Given the description of an element on the screen output the (x, y) to click on. 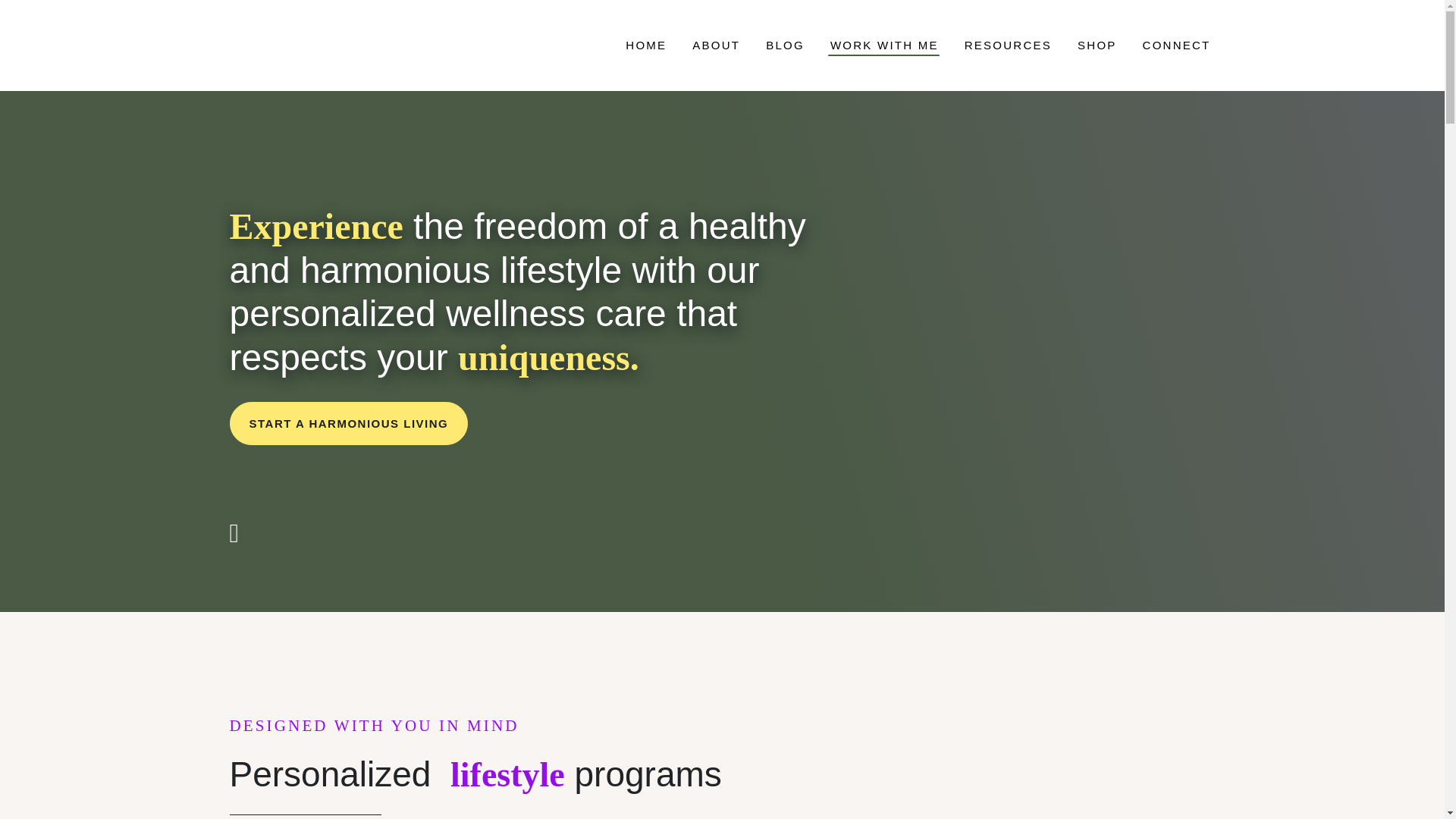
CONNECT (1176, 45)
WORK WITH ME (884, 45)
START A HARMONIOUS LIVING (347, 423)
RESOURCES (1008, 45)
ABOUT (715, 45)
